Given the description of an element on the screen output the (x, y) to click on. 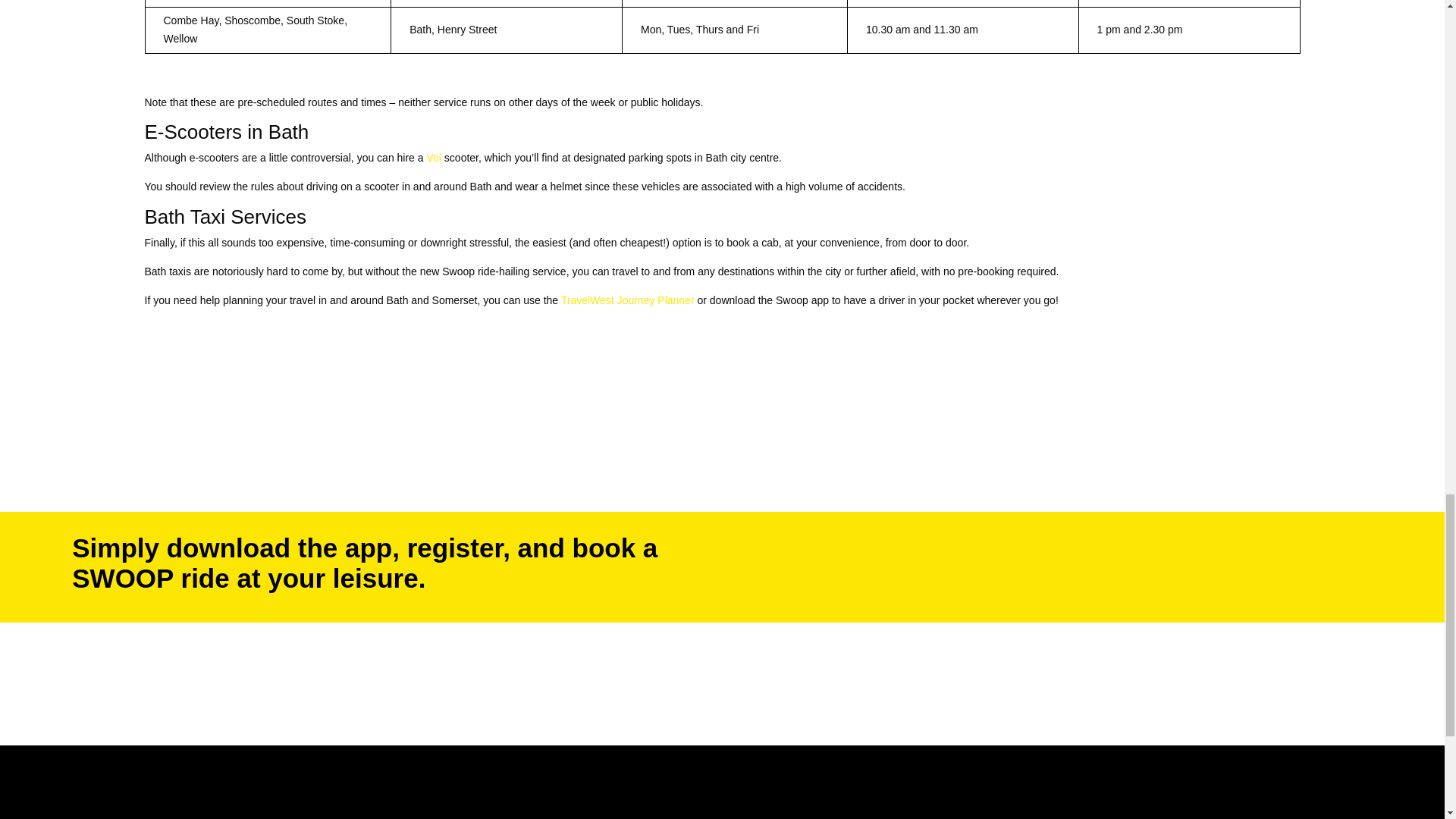
TravelWest Journey Planner (627, 300)
Download SWOOP Taxis on App Store (893, 588)
Voi (433, 157)
Download SWOOP Taxis on Google Play (893, 544)
